Given the description of an element on the screen output the (x, y) to click on. 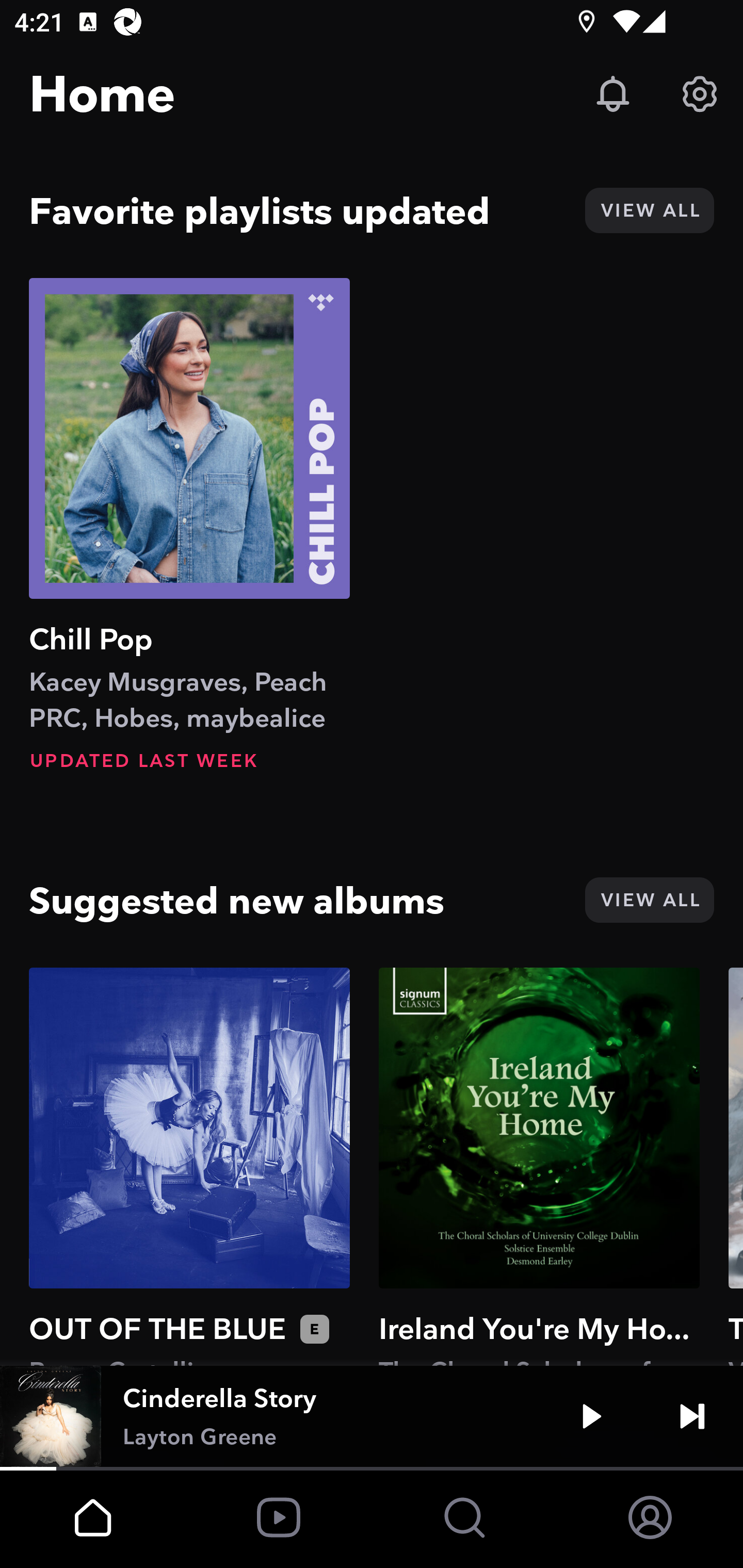
Updates (612, 93)
Settings (699, 93)
VIEW ALL (649, 210)
VIEW ALL (649, 899)
OUT OF THE BLUE Brynn Cartelli (188, 1166)
Cinderella Story Layton Greene Play (371, 1416)
Play (590, 1416)
